Given the description of an element on the screen output the (x, y) to click on. 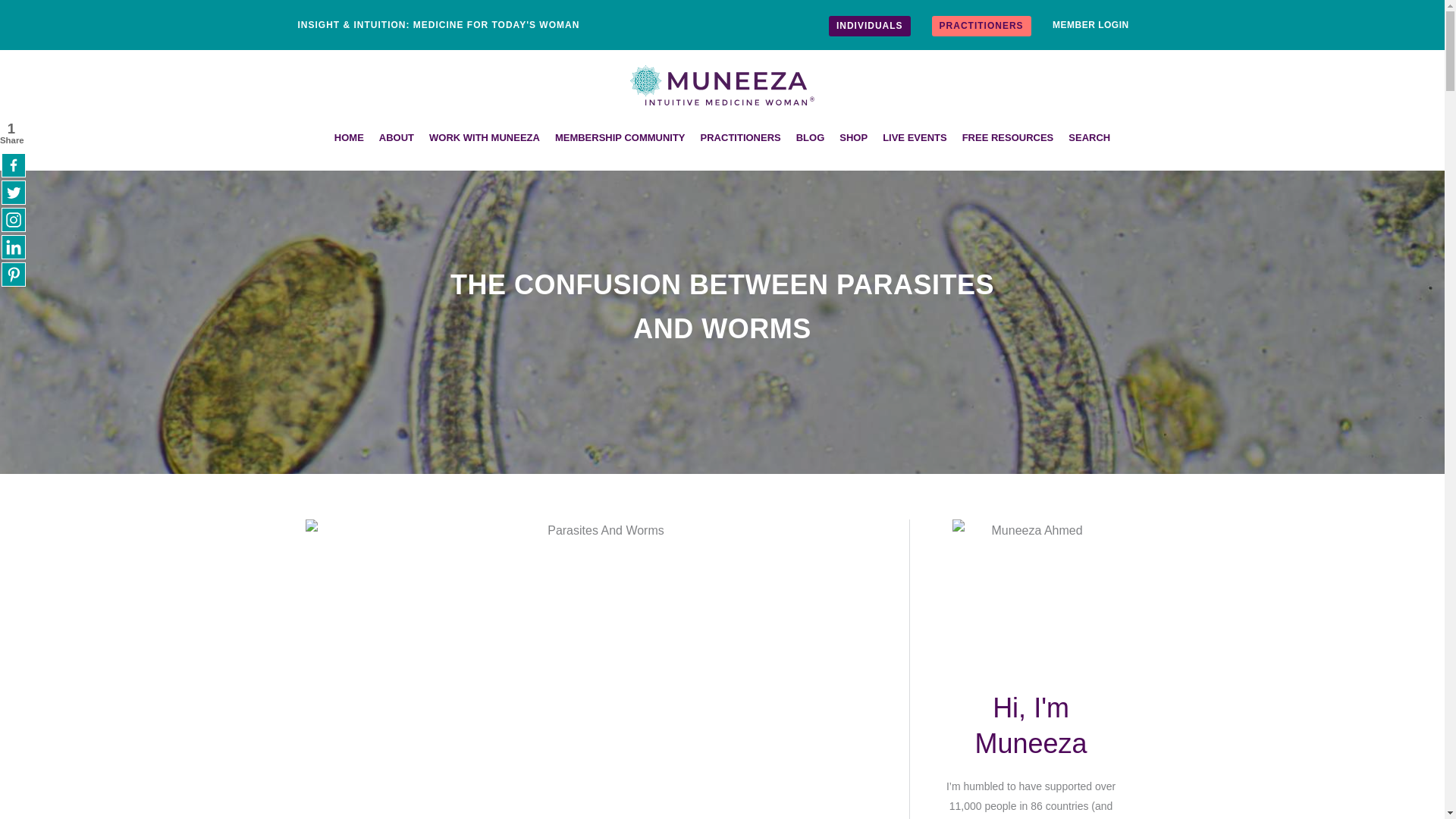
SHOP (853, 137)
INDIVIDUALS (869, 25)
PRACTITIONERS (741, 137)
Linkedin (13, 247)
FREE RESOURCES (1008, 137)
MEMBER LOGIN (1090, 24)
MEMBERSHIP COMMUNITY (620, 137)
ABOUT (396, 137)
Instagram (13, 219)
HOME (348, 137)
